Given the description of an element on the screen output the (x, y) to click on. 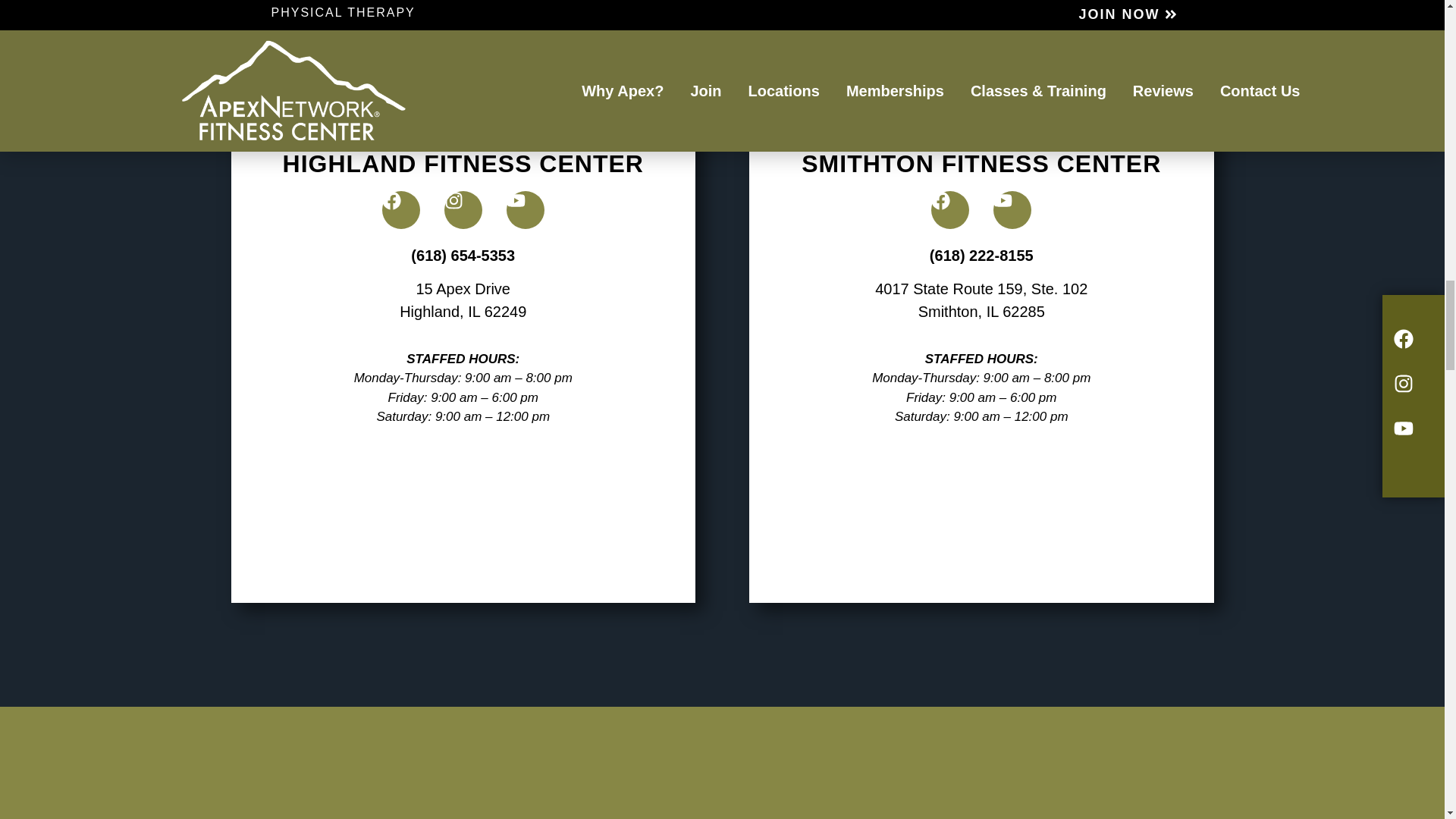
Apex, 4017 State Route 159, Ste. 102 Smithton, IL (981, 516)
Apex Fitness, 15 Apex Drive, Highland, IL 62249 (462, 516)
